Given the description of an element on the screen output the (x, y) to click on. 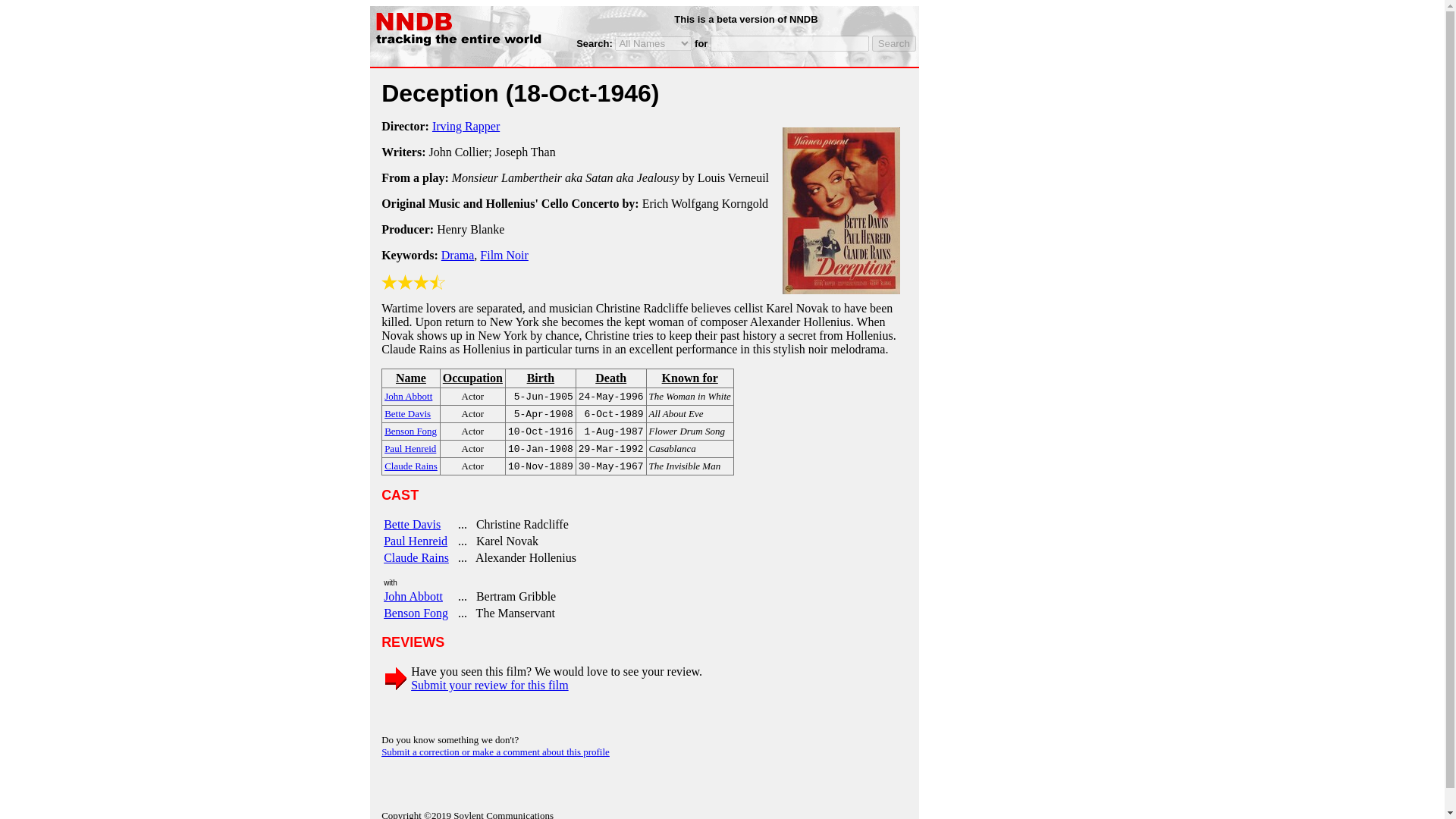
Occupation (472, 377)
John Abbott (408, 395)
Bette Davis (407, 412)
John Abbott (413, 595)
Paul Henreid (409, 447)
Benson Fong (416, 612)
Film Noir (504, 254)
Paul Henreid (415, 540)
Search (893, 43)
Birth (540, 377)
Name (411, 377)
Benson Fong (410, 430)
Bette Davis (412, 523)
Claude Rains (416, 557)
Search (893, 43)
